Given the description of an element on the screen output the (x, y) to click on. 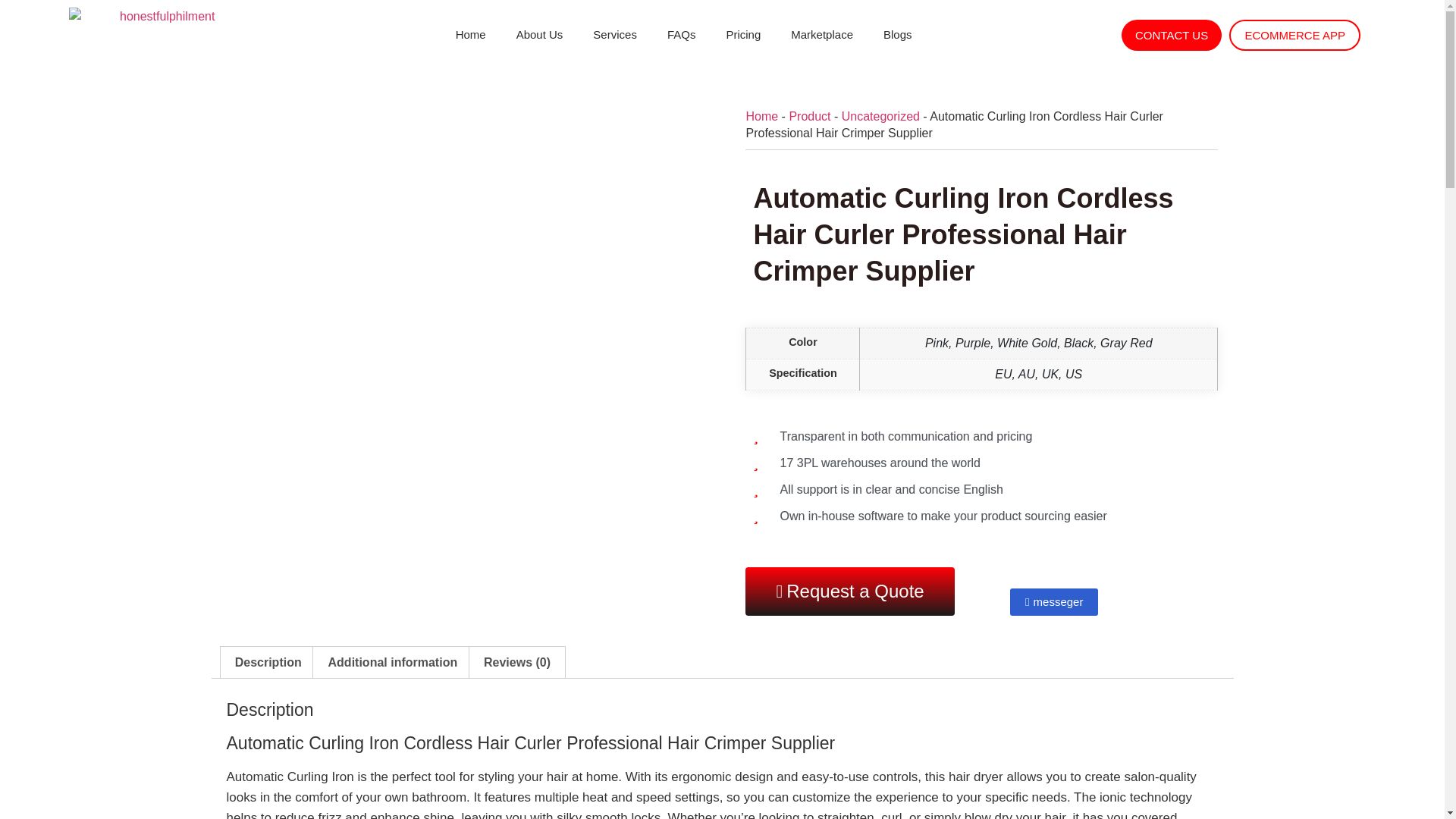
Home (470, 34)
Blogs (897, 34)
Marketplace (821, 34)
Pricing (743, 34)
About Us (539, 34)
FAQs (681, 34)
Services (615, 34)
